Given the description of an element on the screen output the (x, y) to click on. 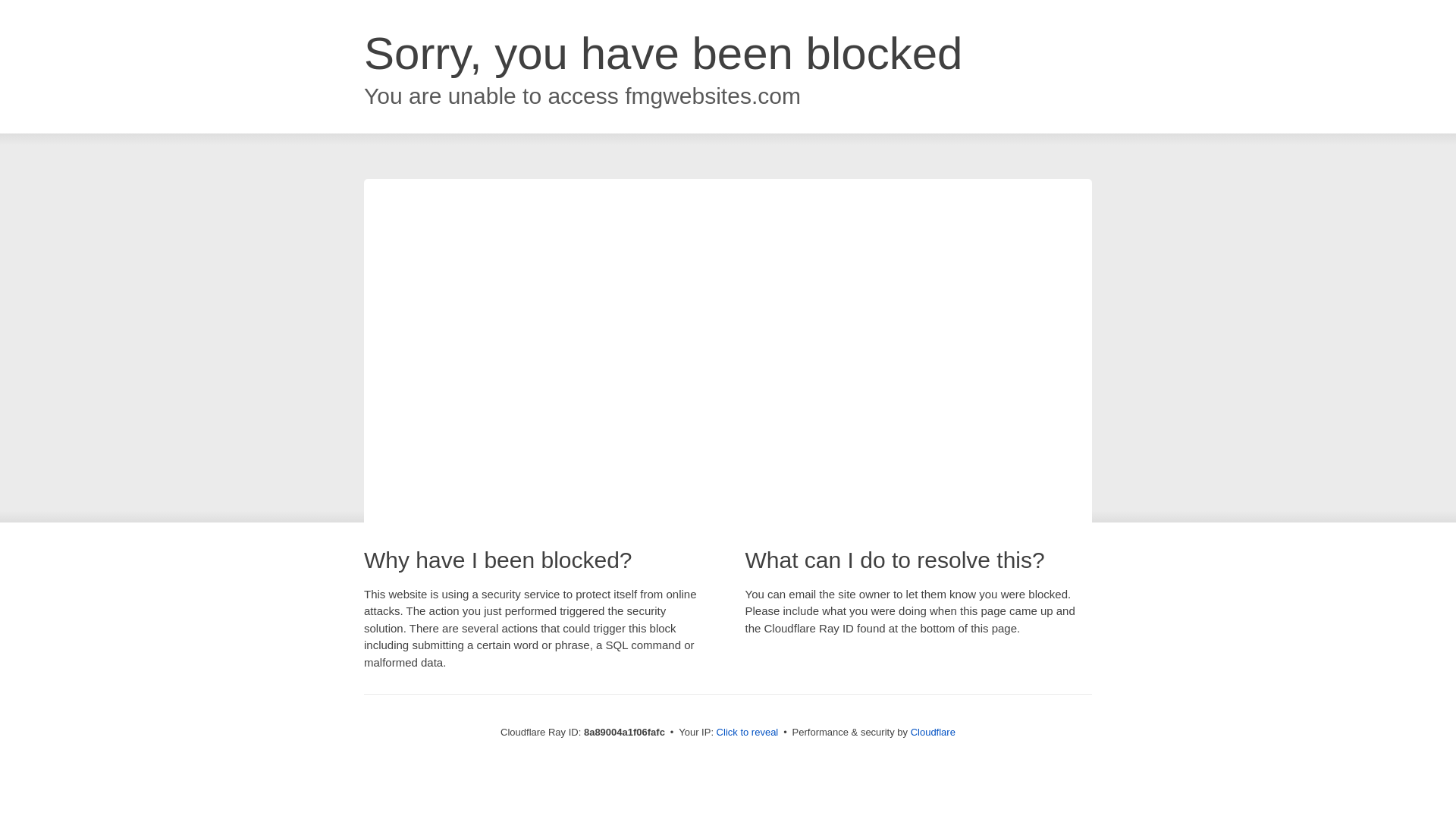
Click to reveal (747, 732)
Cloudflare (933, 731)
